Given the description of an element on the screen output the (x, y) to click on. 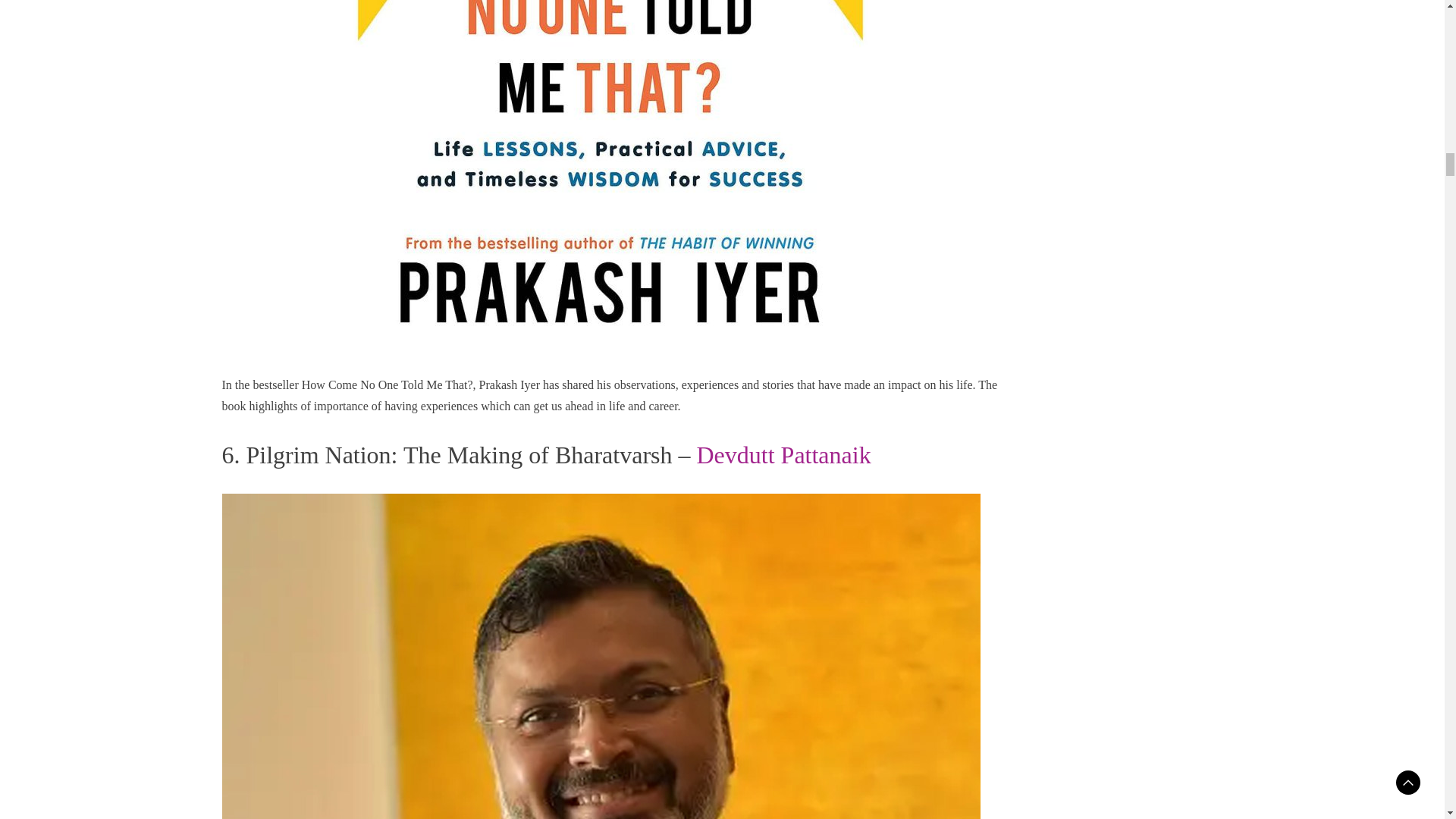
Devdutt Pattanaik (782, 454)
